Given the description of an element on the screen output the (x, y) to click on. 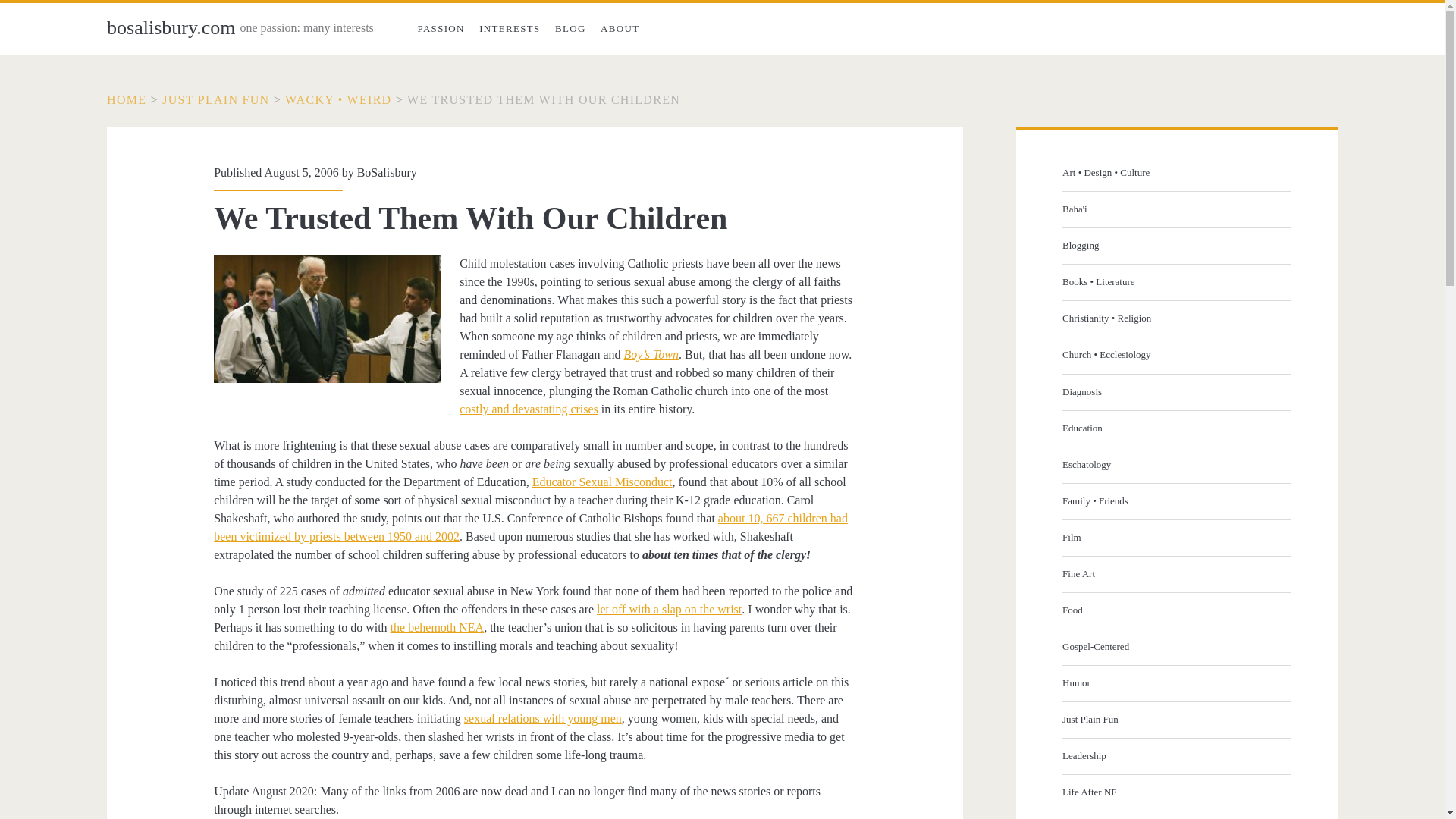
PASSION (440, 28)
Roman Catholic Sex Abuse Cases (529, 408)
We Trusted Them With Our Children (543, 99)
bosalisbury.com (170, 27)
ABOUT (619, 28)
INTERESTS (509, 28)
U.S. Conference of Catholic Bishops Abuse (530, 526)
Kristen Margrif (542, 717)
Home (126, 99)
Debra LaFave (668, 608)
Boy's Town (651, 354)
Posts by BoSalisbury (386, 172)
National Education Association (437, 626)
Educator Sexual Misconduct (602, 481)
